Given the description of an element on the screen output the (x, y) to click on. 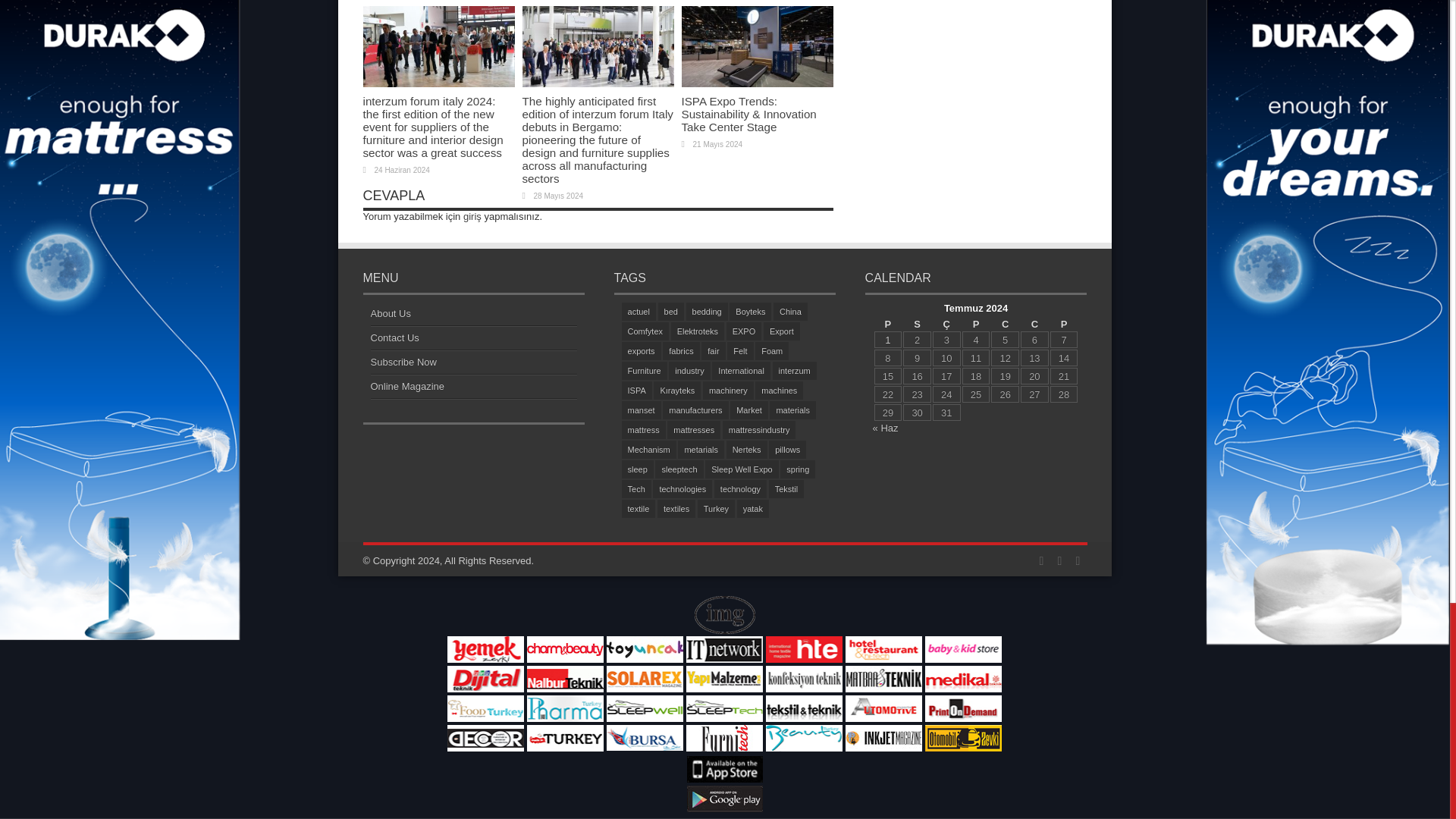
Pazartesi (888, 324)
